Given the description of an element on the screen output the (x, y) to click on. 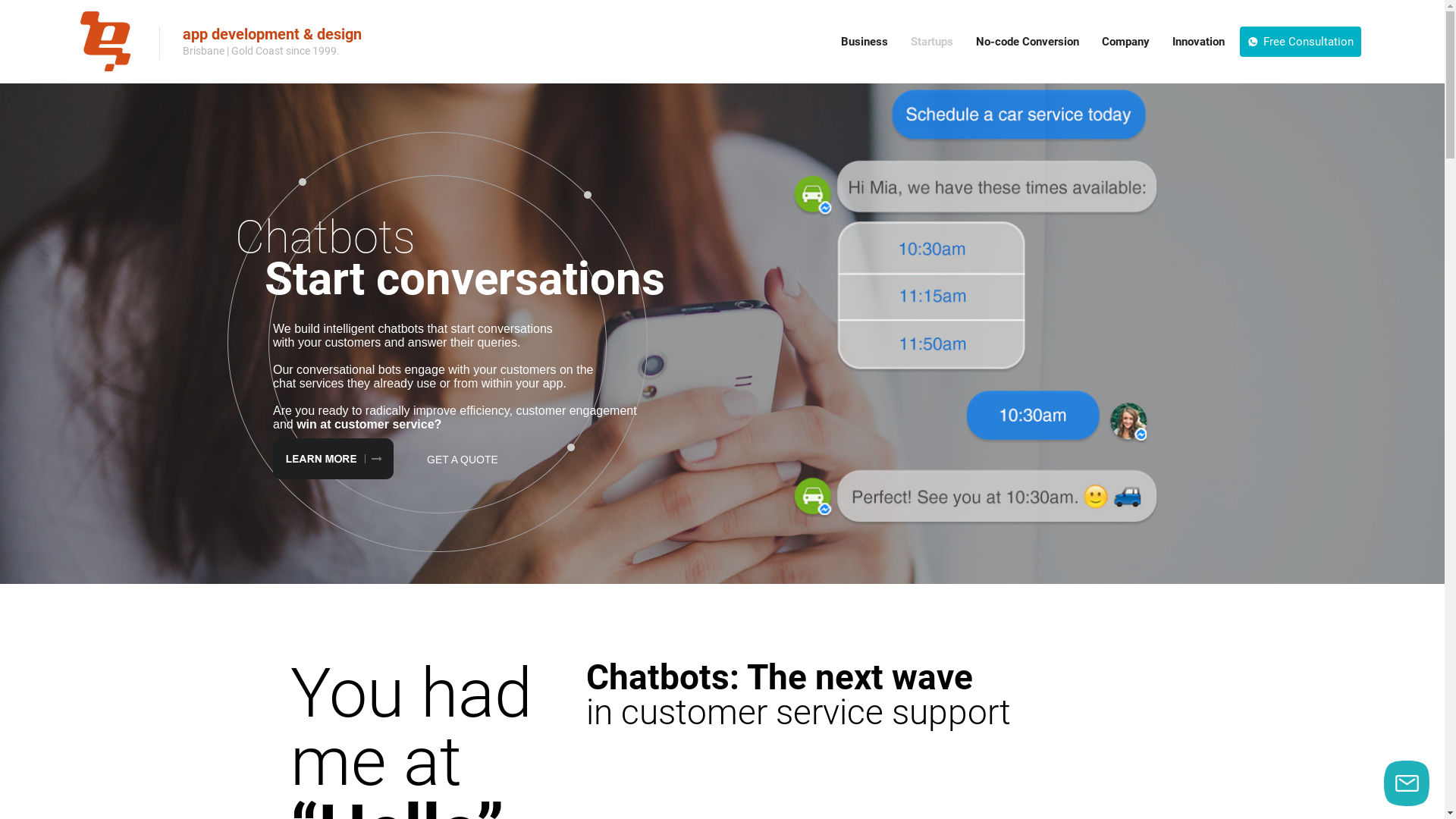
No-code Conversion Element type: text (1027, 41)
GET A QUOTE Element type: text (462, 459)
Company Element type: text (1125, 41)
Business Element type: text (864, 41)
Free Consultation Element type: text (1300, 41)
Startups Element type: text (931, 41)
Innovation Element type: text (1198, 41)
